Given the description of an element on the screen output the (x, y) to click on. 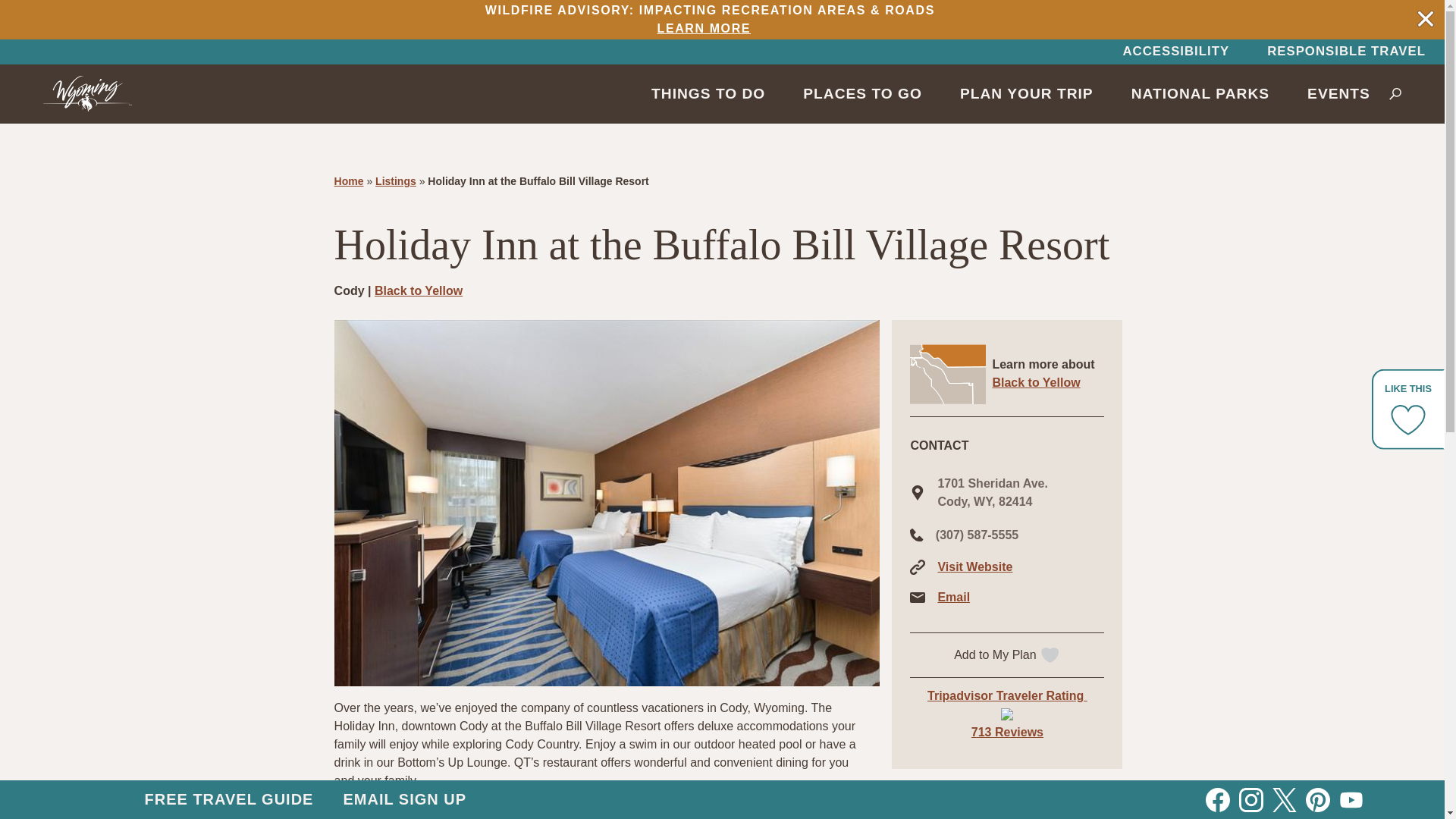
PLAN YOUR TRIP (1026, 93)
Travel Wyoming home (87, 93)
EVENTS (1338, 93)
NATIONAL PARKS (1200, 93)
THINGS TO DO (707, 93)
RESPONSIBLE TRAVEL (1345, 51)
PLACES TO GO (862, 93)
ACCESSIBILITY (1175, 51)
